Given the description of an element on the screen output the (x, y) to click on. 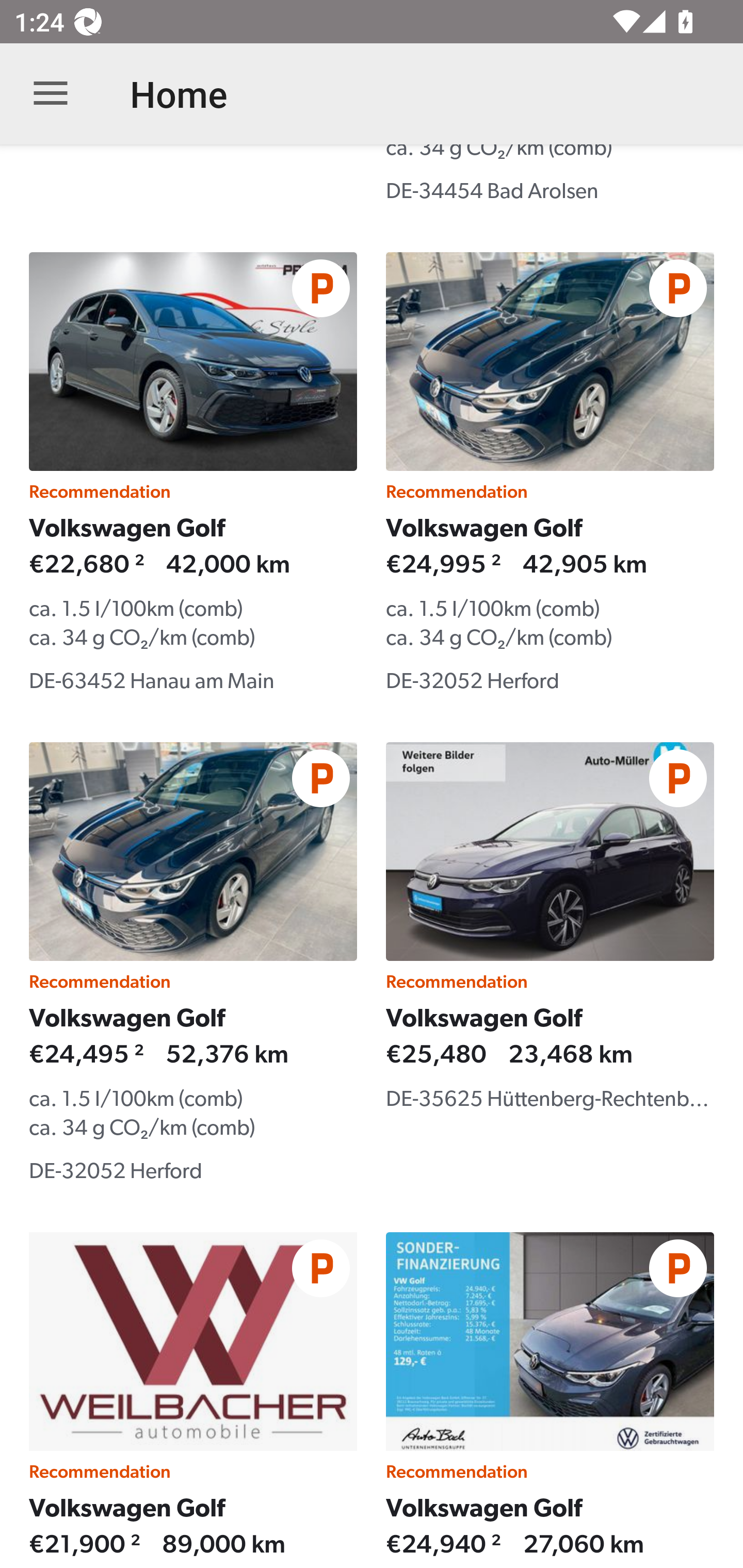
Open navigation bar (50, 93)
Recommendation Volkswagen Golf €21,900 ² 89,000 km (192, 1400)
Recommendation Volkswagen Golf €24,940 ² 27,060 km (549, 1400)
